Given the description of an element on the screen output the (x, y) to click on. 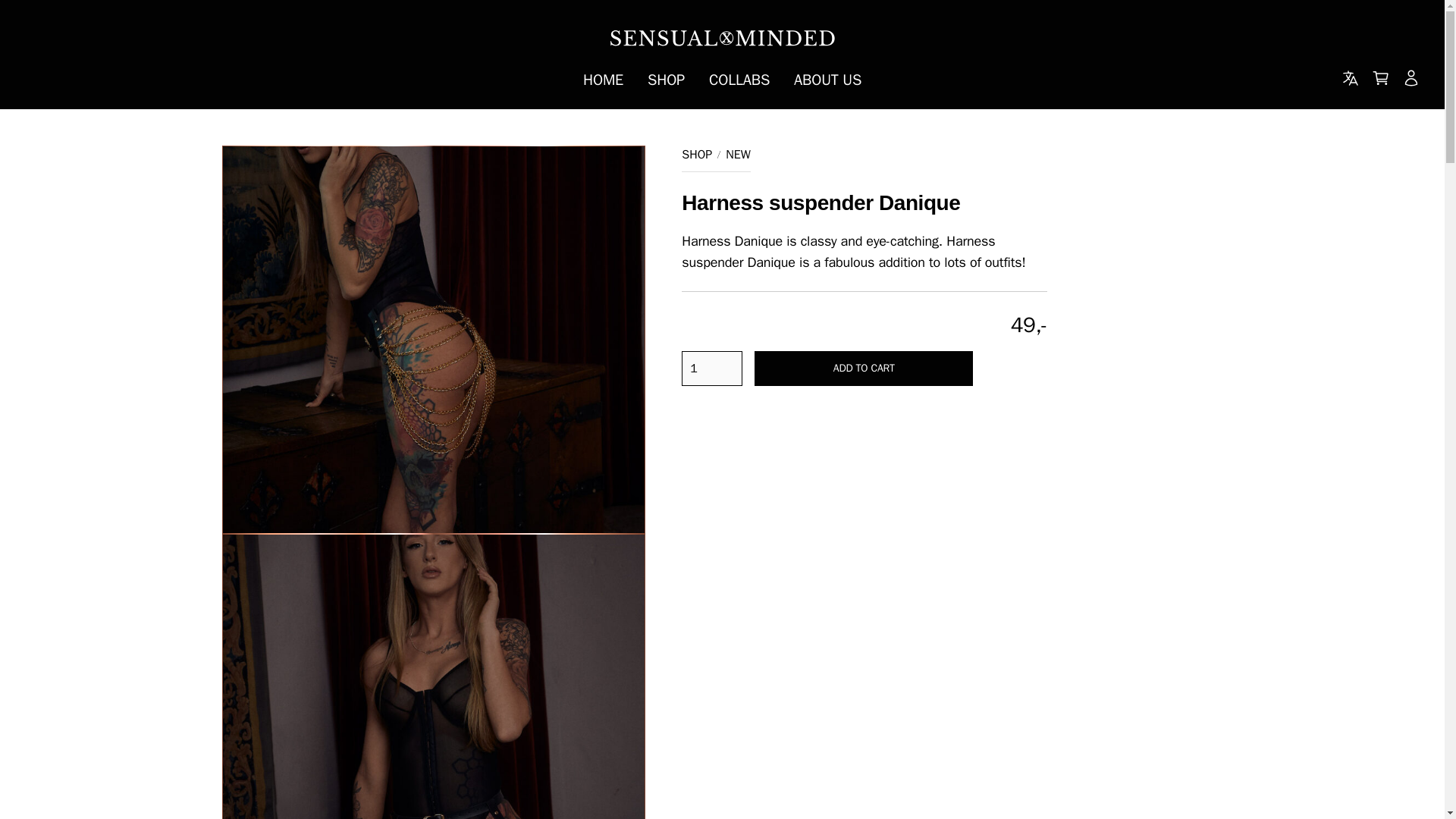
Sensual Minded (722, 37)
ABOUT US (827, 80)
COLLABS (739, 80)
HOME (602, 80)
ADD TO CART (863, 368)
SHOP (696, 154)
SHOP (666, 80)
1 (711, 368)
